Given the description of an element on the screen output the (x, y) to click on. 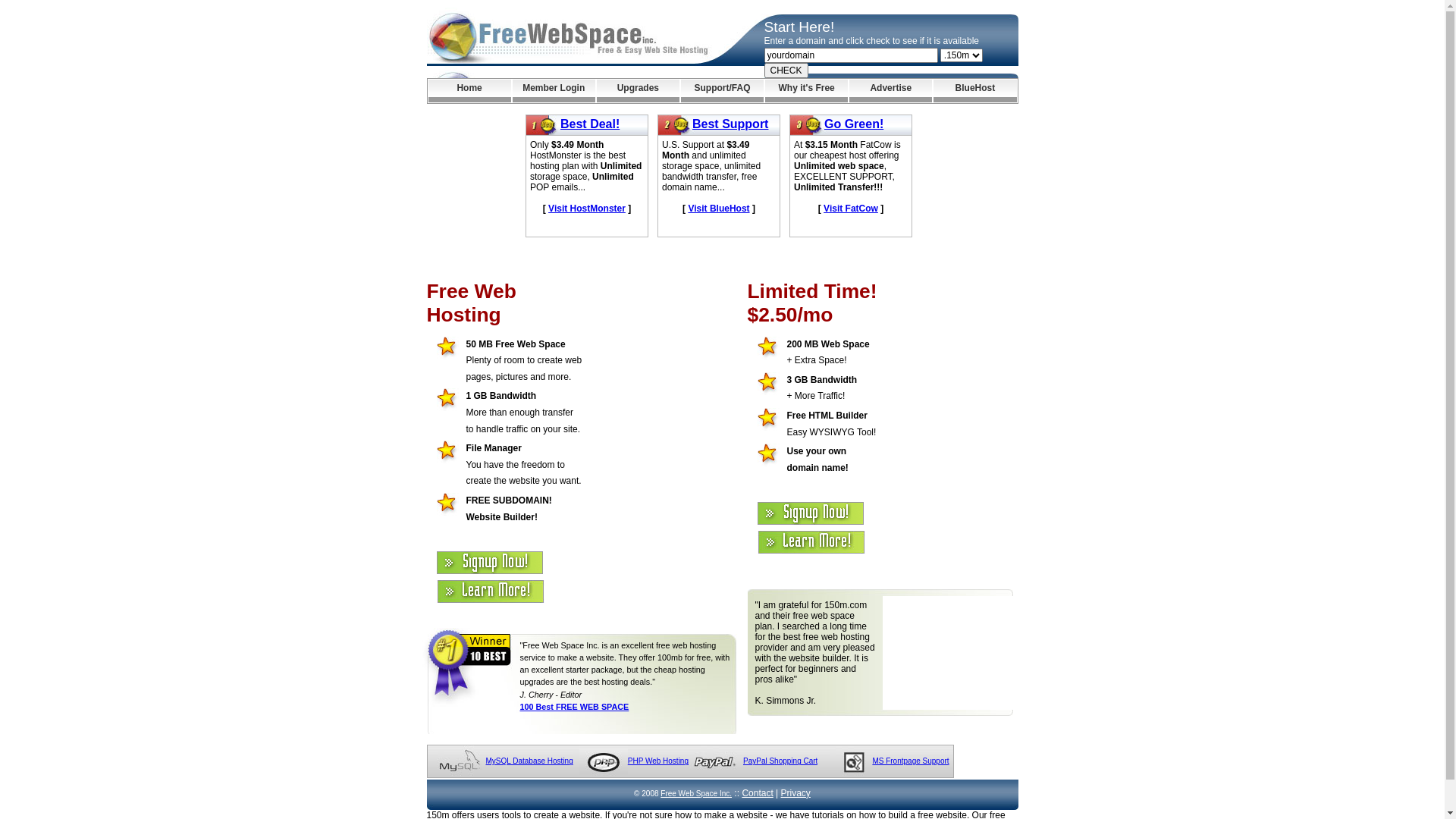
Contact Element type: text (756, 792)
MS Frontpage Support Element type: text (910, 760)
Advertise Element type: text (890, 90)
Privacy Element type: text (795, 792)
PayPal Shopping Cart Element type: text (780, 760)
Why it's Free Element type: text (806, 90)
MySQL Database Hosting Element type: text (528, 760)
PHP Web Hosting Element type: text (657, 760)
100 Best FREE WEB SPACE Element type: text (574, 706)
CHECK Element type: text (786, 70)
BlueHost Element type: text (974, 90)
Home Element type: text (468, 90)
Upgrades Element type: text (637, 90)
Support/FAQ Element type: text (721, 90)
Member Login Element type: text (553, 90)
Free Web Space Inc. Element type: text (695, 793)
